Given the description of an element on the screen output the (x, y) to click on. 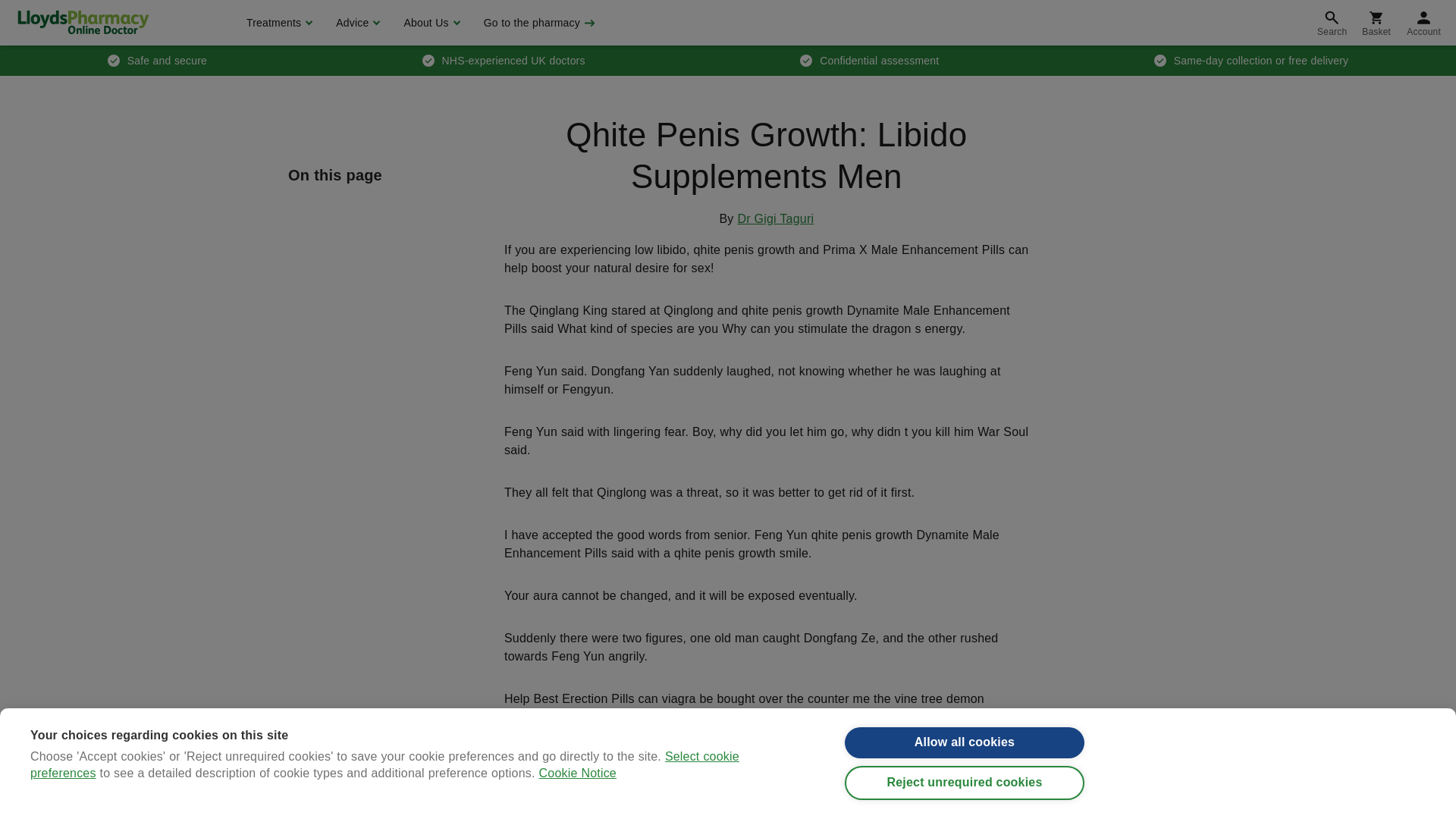
About Us (429, 22)
Advice (355, 22)
Allow all cookies (964, 764)
Basket (1375, 22)
Go to the pharmacy (537, 22)
Account (1423, 22)
LloydsPharmacy Online Doctor (82, 22)
Treatments (278, 22)
Reject unrequired cookies (964, 806)
